Given the description of an element on the screen output the (x, y) to click on. 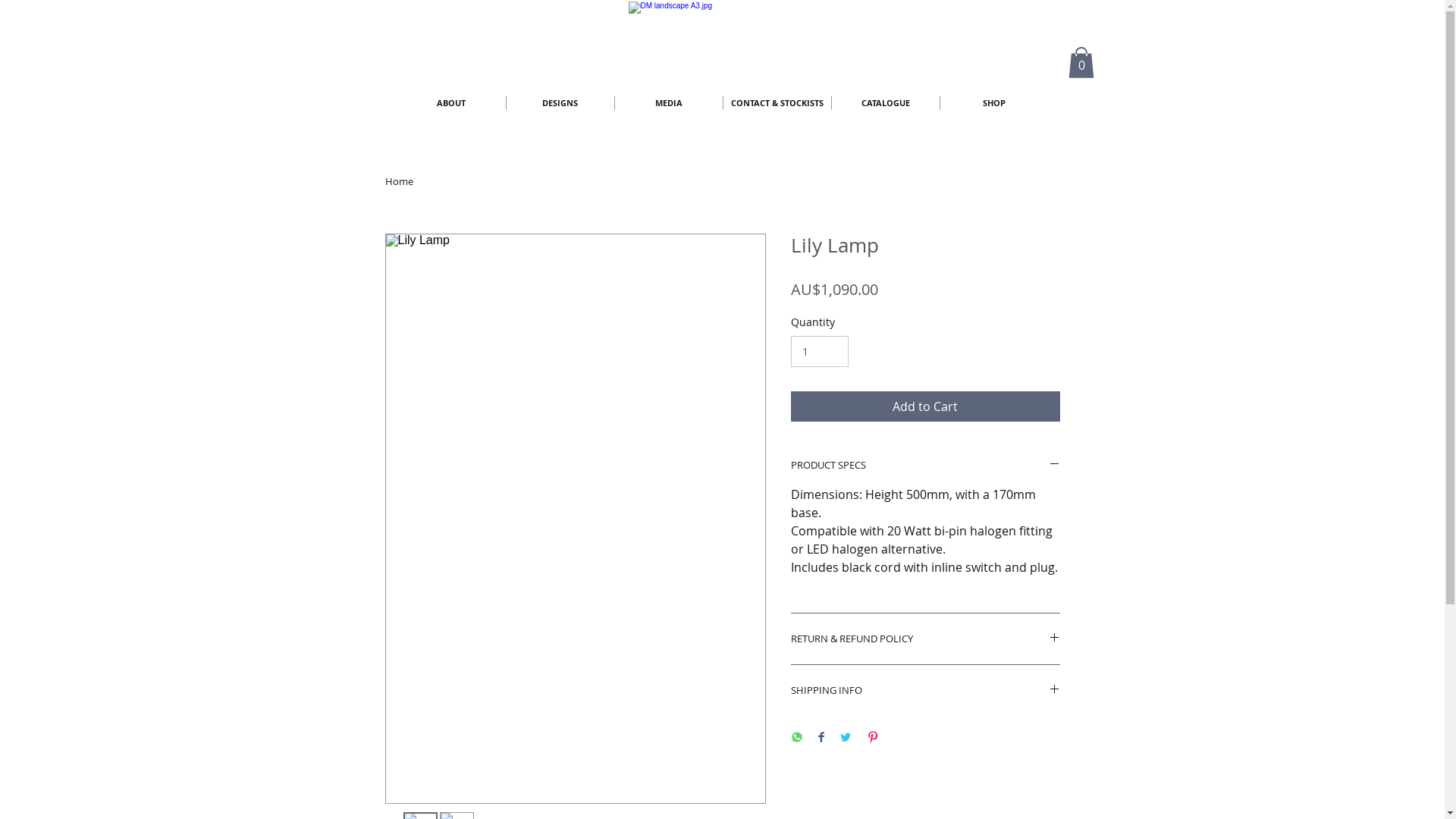
RETURN & REFUND POLICY Element type: text (924, 638)
Add to Cart Element type: text (924, 406)
Home Element type: text (399, 181)
0 Element type: text (1080, 62)
SHOP Element type: text (994, 102)
CONTACT & STOCKISTS Element type: text (777, 102)
MEDIA Element type: text (667, 102)
DESIGNS Element type: text (560, 102)
ABOUT Element type: text (451, 102)
CATALOGUE Element type: text (884, 102)
SHIPPING INFO Element type: text (924, 690)
PRODUCT SPECS Element type: text (924, 465)
